Given the description of an element on the screen output the (x, y) to click on. 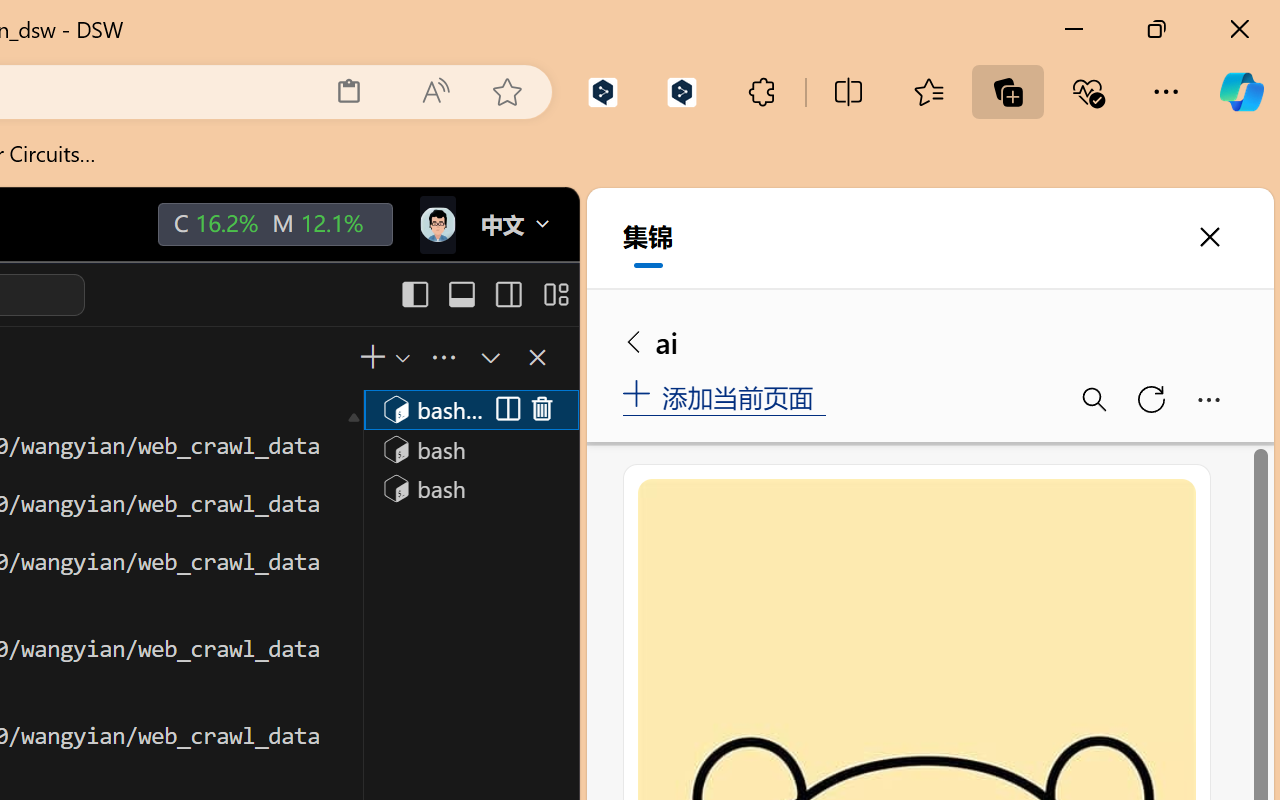
Class: actions-container (523, 409)
Launch Profile... (401, 357)
Title actions (484, 294)
Toggle Panel (Ctrl+J) (461, 294)
Class: next-menu next-hoz widgets--iconMenu--BFkiHRM (436, 225)
Toggle Primary Side Bar (Ctrl+B) (413, 294)
Close Panel (535, 357)
